Given the description of an element on the screen output the (x, y) to click on. 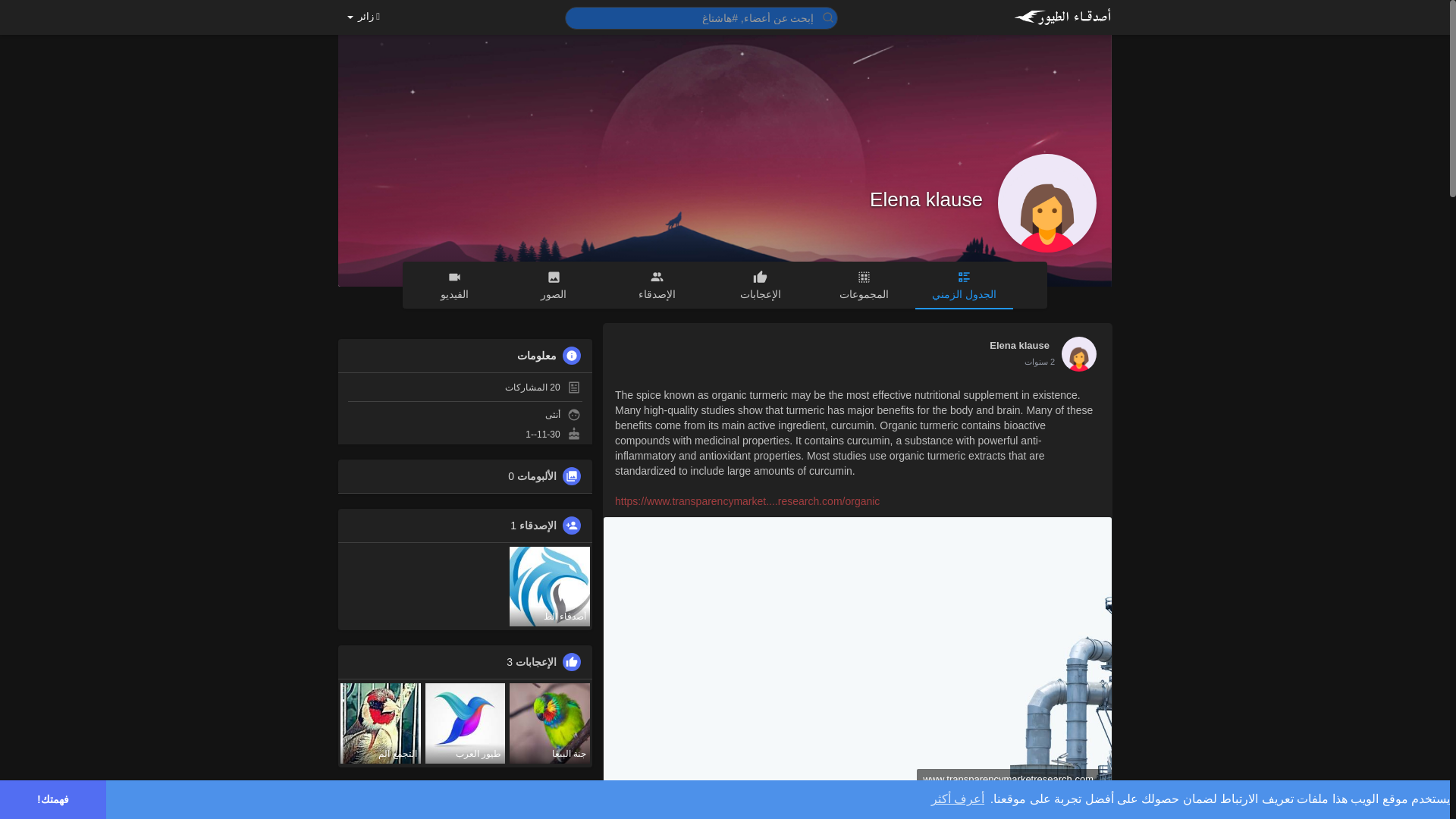
Elena klause (1019, 345)
Elena klause (925, 199)
